Given the description of an element on the screen output the (x, y) to click on. 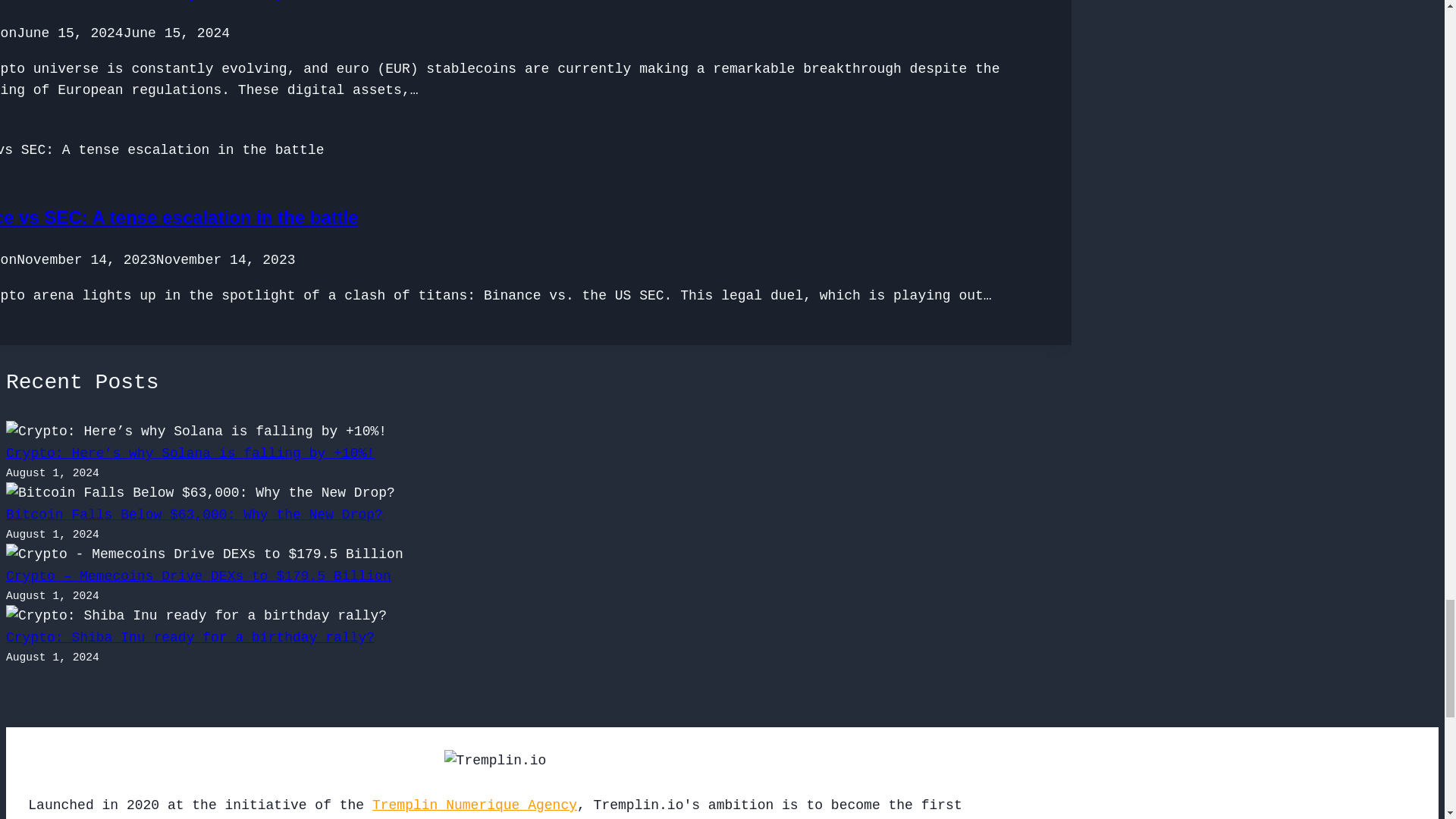
Binance vs SEC: A tense escalation in the battle (179, 217)
Crypto: Shiba Inu ready for a birthday rally? (189, 637)
Tremplin Numerique Agency (474, 805)
